Given the description of an element on the screen output the (x, y) to click on. 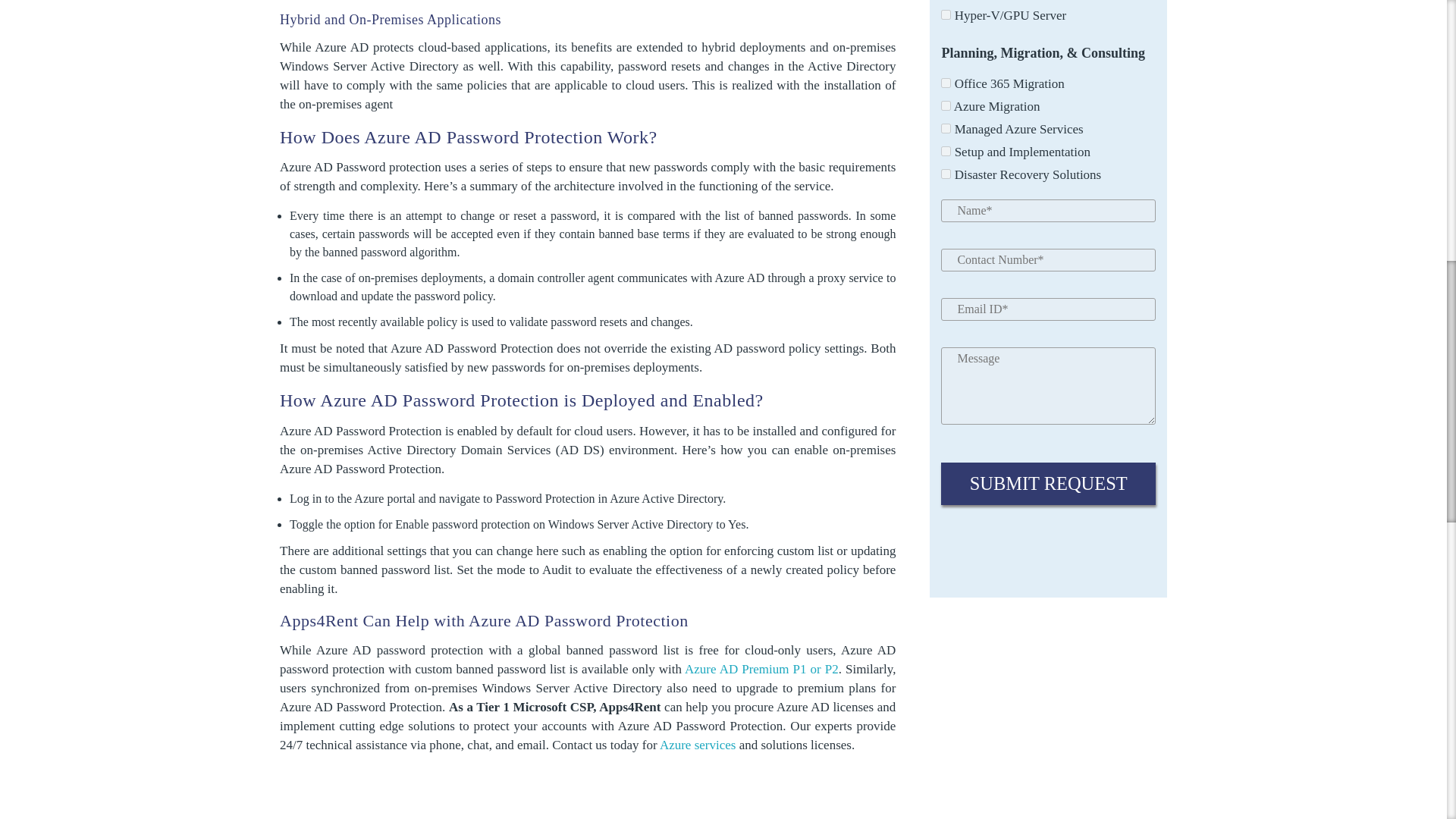
Azure services (697, 744)
Azure Migration (945, 105)
Office 365 Migration (945, 82)
SUBMIT REQUEST (1048, 483)
Azure AD Premium P1 or P2 (761, 668)
